Given the description of an element on the screen output the (x, y) to click on. 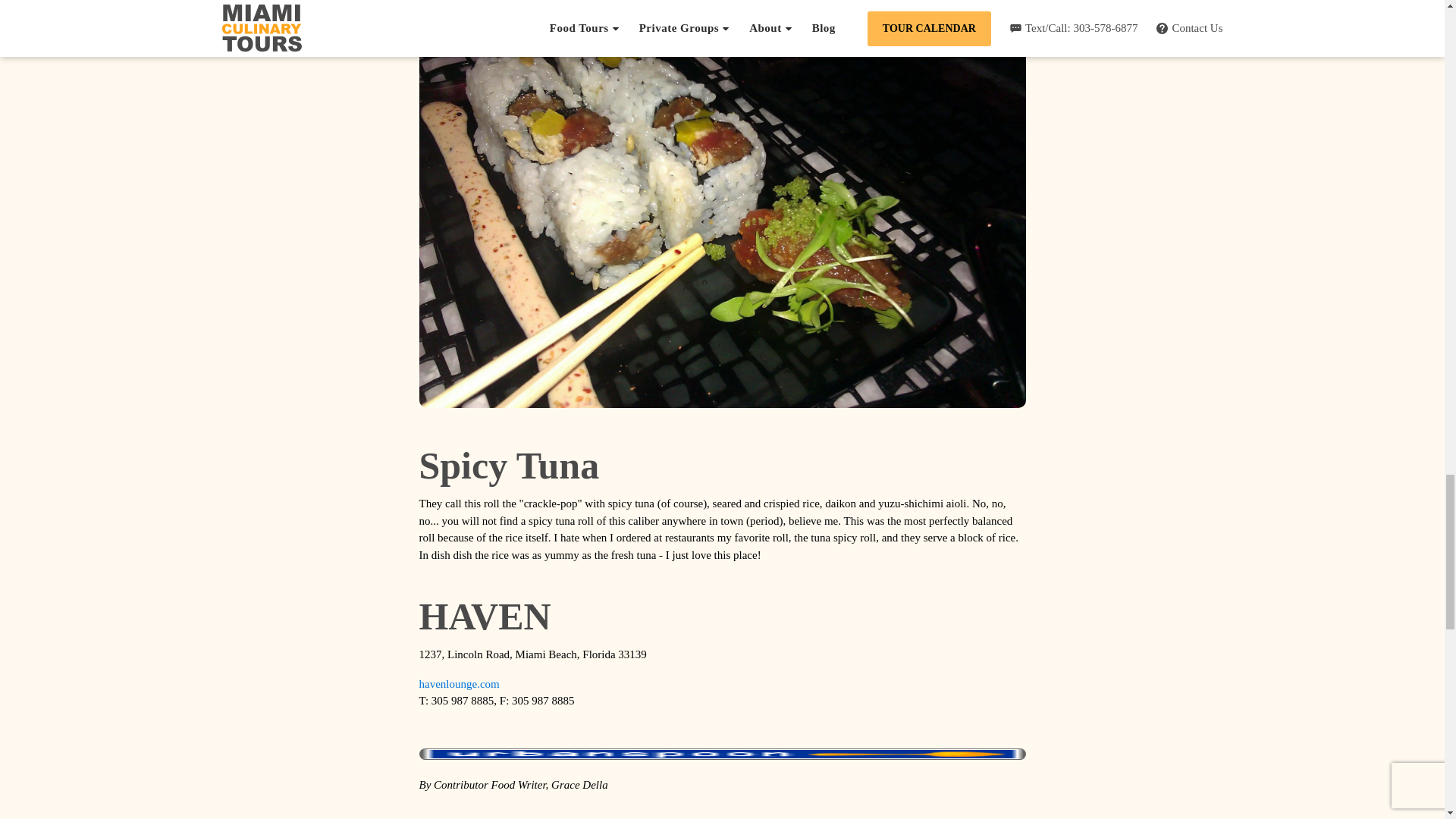
havenlounge.com (459, 684)
